Given the description of an element on the screen output the (x, y) to click on. 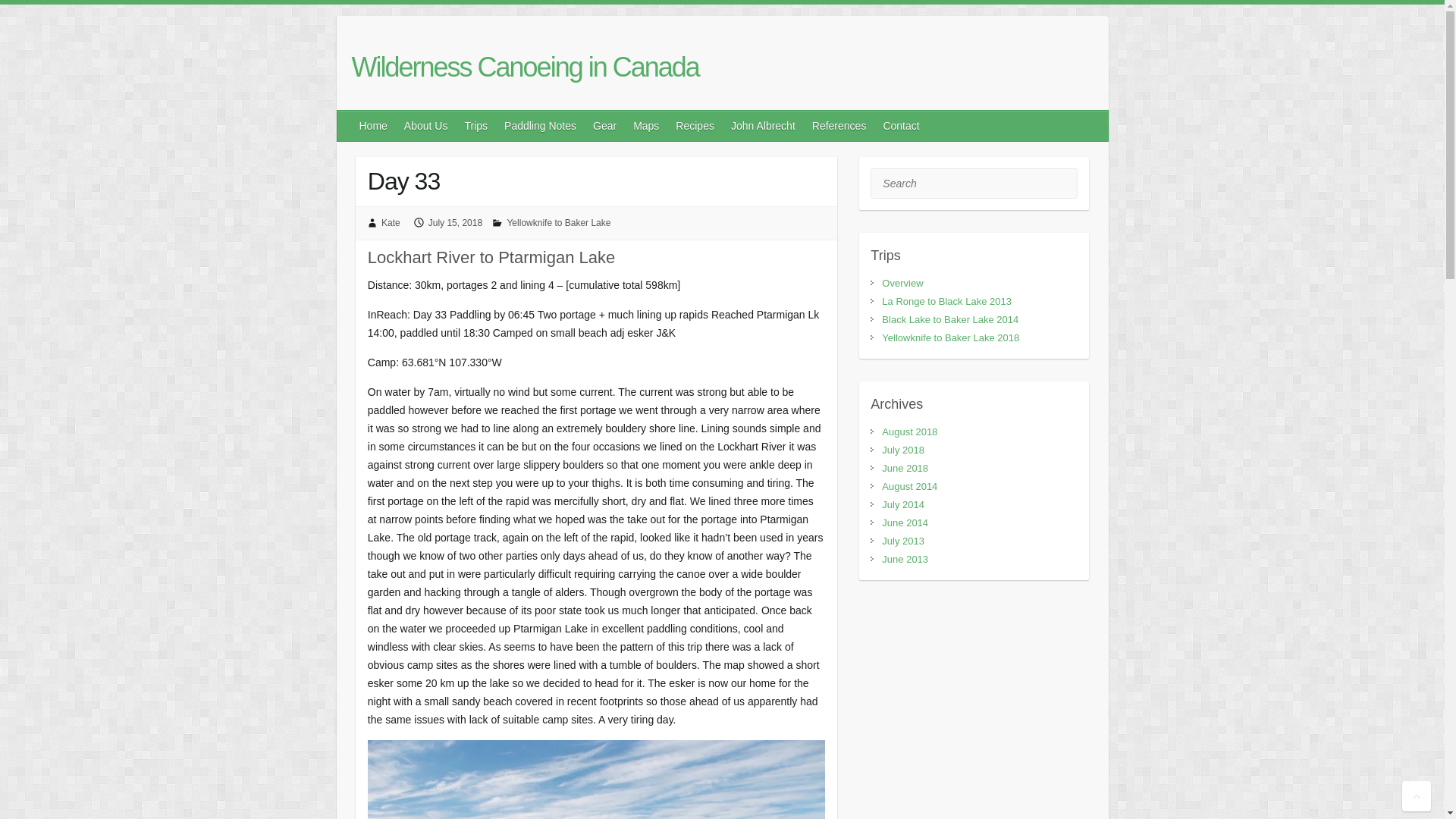
Kate (390, 222)
Paddling Notes (540, 125)
Recipes (695, 125)
Contact (901, 125)
References (840, 125)
July 2018 (903, 449)
About Us (426, 125)
Gear (605, 125)
Home (374, 125)
July 15, 2018 (454, 222)
